Given the description of an element on the screen output the (x, y) to click on. 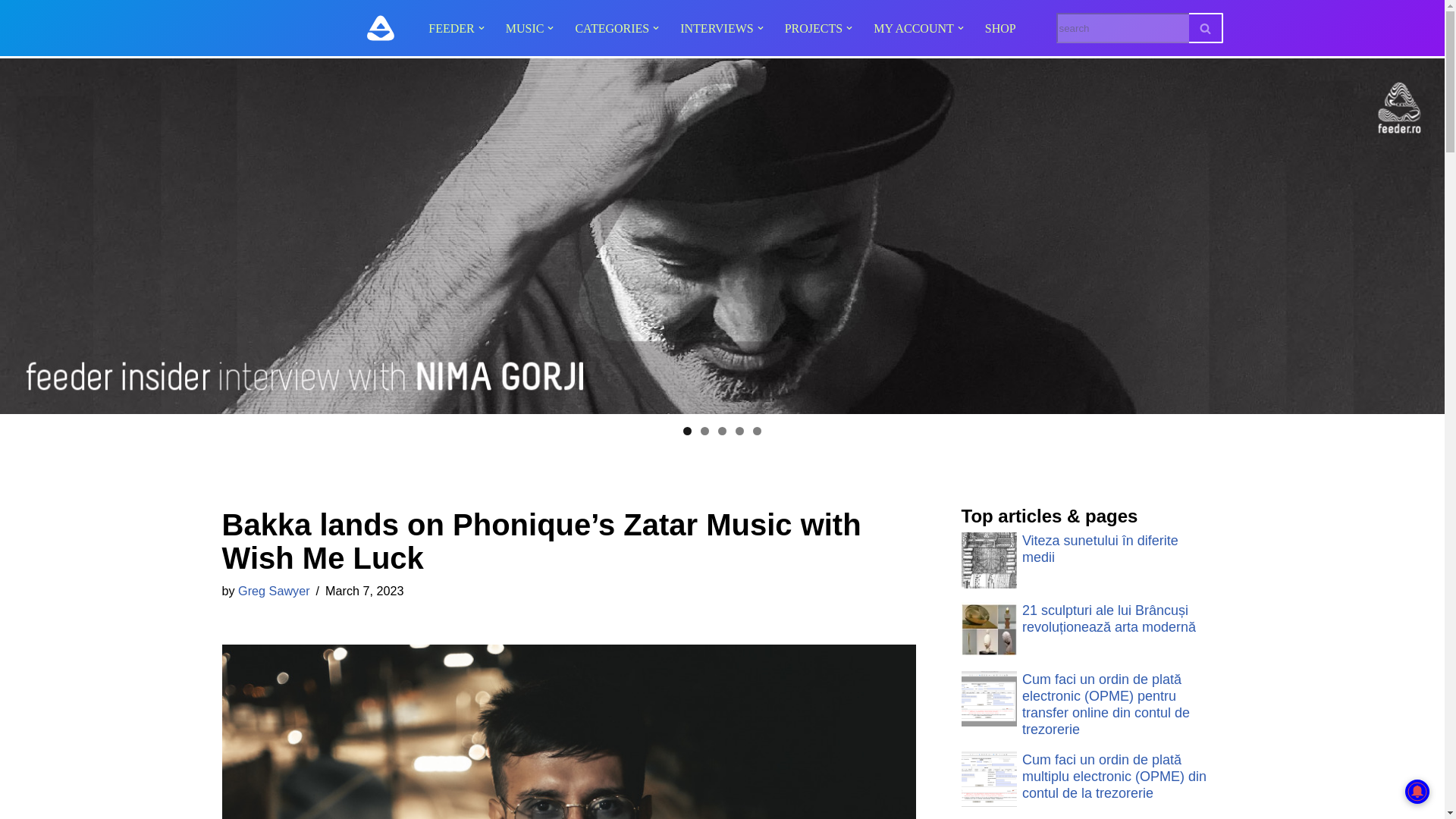
FEEDER (451, 28)
PROJECTS (813, 28)
Posts by Greg Sawyer (273, 590)
MUSIC (524, 28)
CATEGORIES (612, 28)
Skip to content (11, 31)
INTERVIEWS (715, 28)
